Given the description of an element on the screen output the (x, y) to click on. 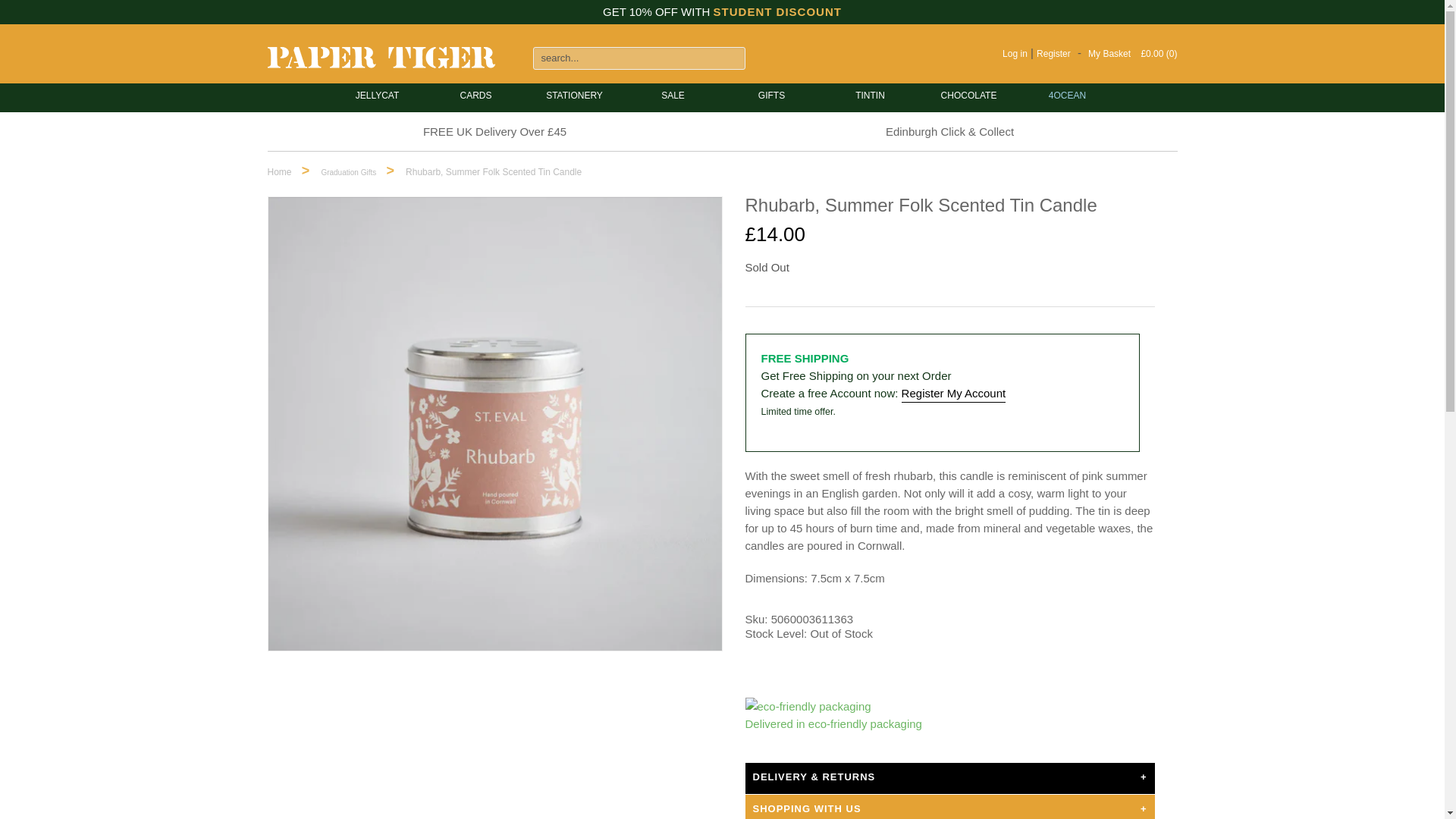
STUDENT DISCOUNT (777, 11)
jellycat (376, 95)
Register (1053, 53)
JELLYCAT (376, 95)
Log in (1015, 53)
